Given the description of an element on the screen output the (x, y) to click on. 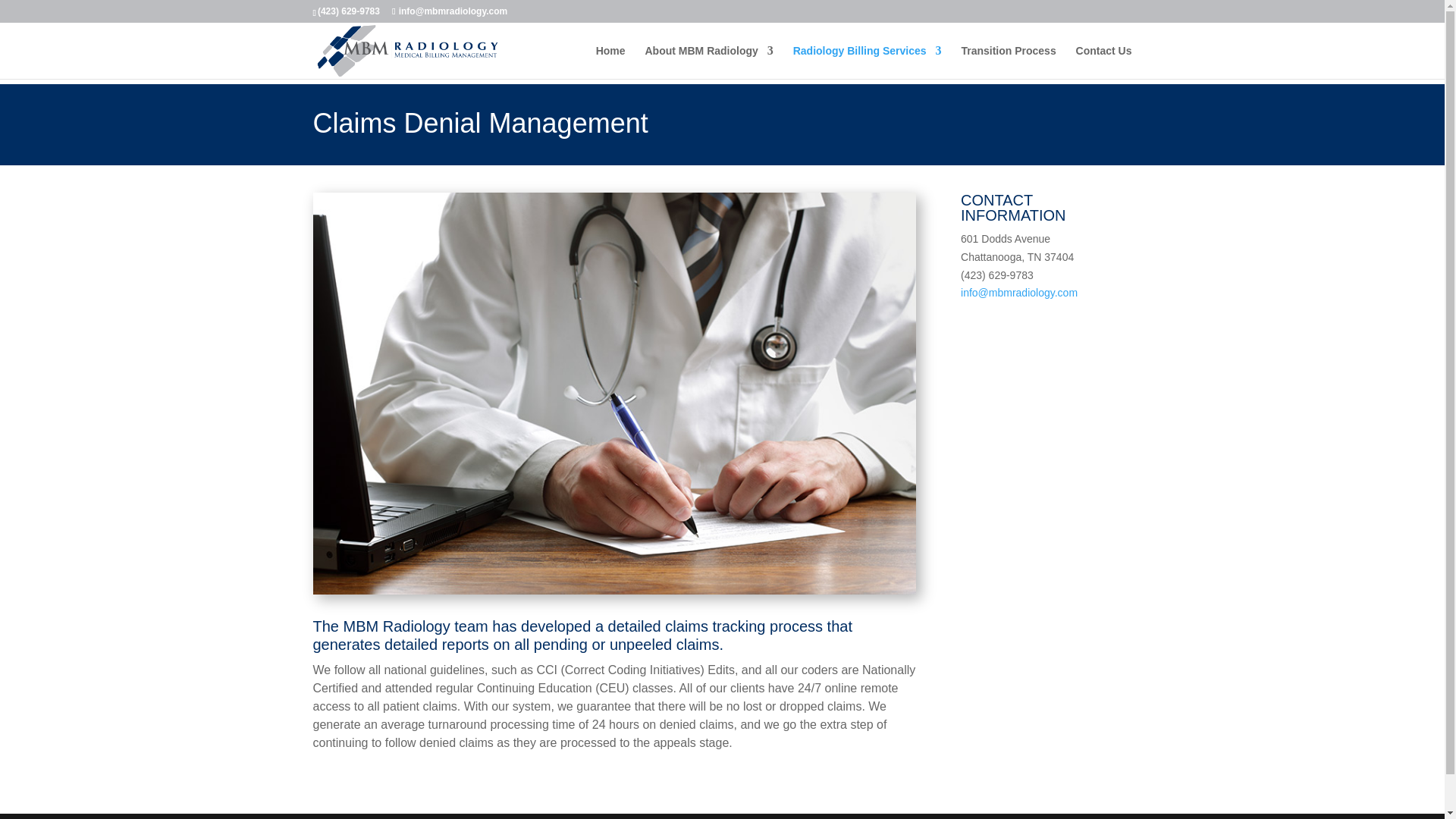
Contact Us (1103, 61)
Radiology Billing Services (867, 61)
About MBM Radiology (709, 61)
Transition Process (1007, 61)
